Given the description of an element on the screen output the (x, y) to click on. 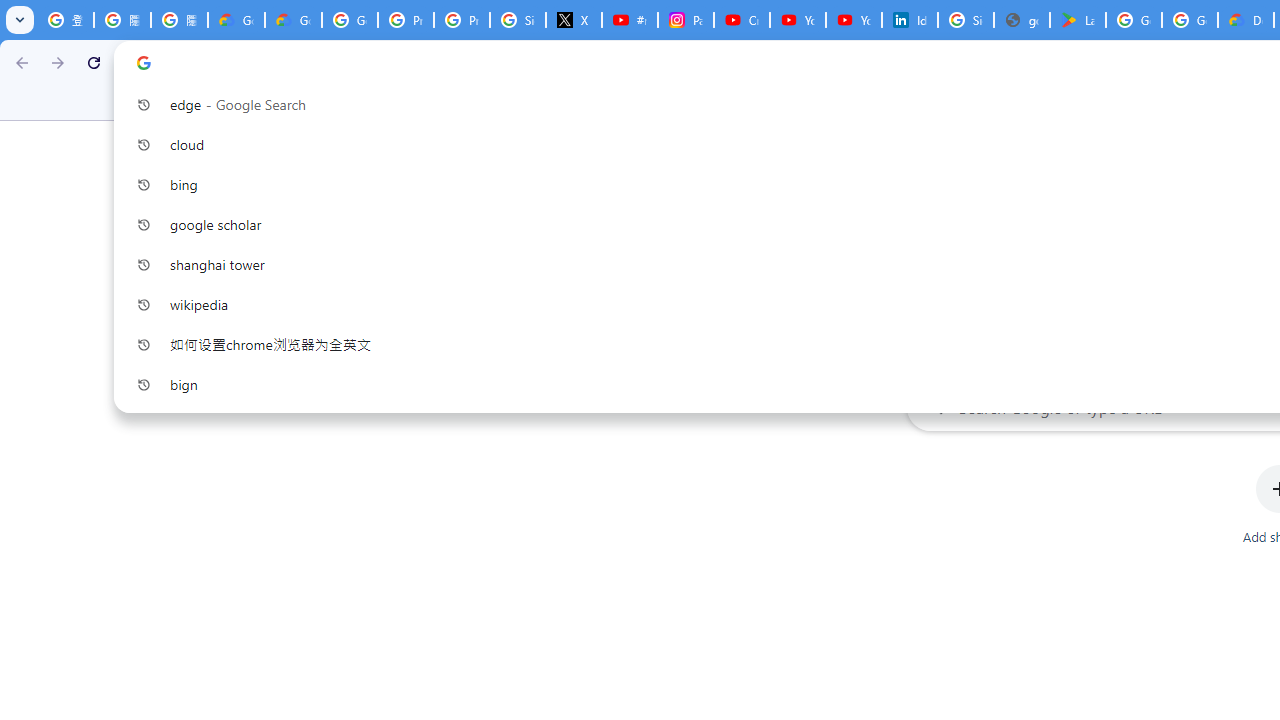
X (573, 20)
Privacy Help Center - Policies Help (405, 20)
Sign in - Google Accounts (518, 20)
Privacy Help Center - Policies Help (461, 20)
Last Shelter: Survival - Apps on Google Play (1077, 20)
